Given the description of an element on the screen output the (x, y) to click on. 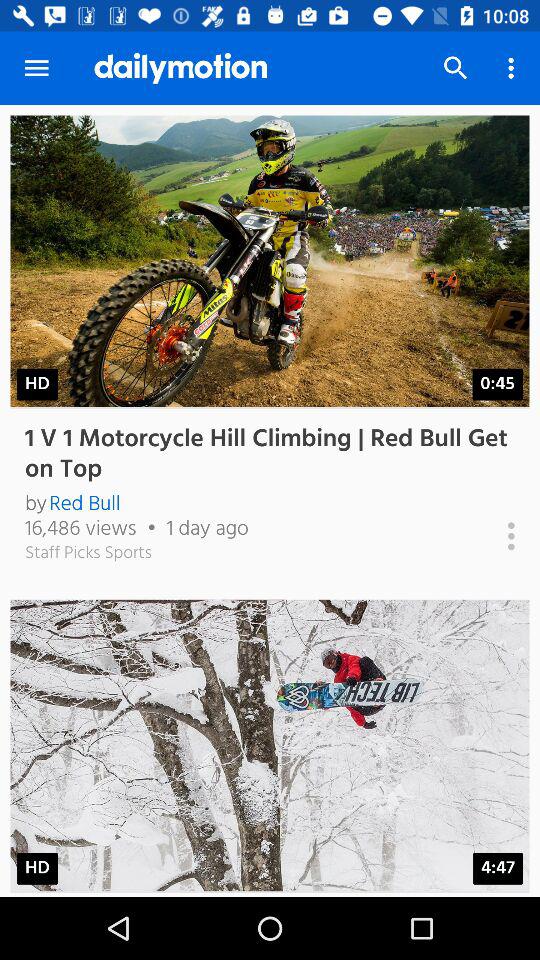
view categories (490, 536)
